Given the description of an element on the screen output the (x, y) to click on. 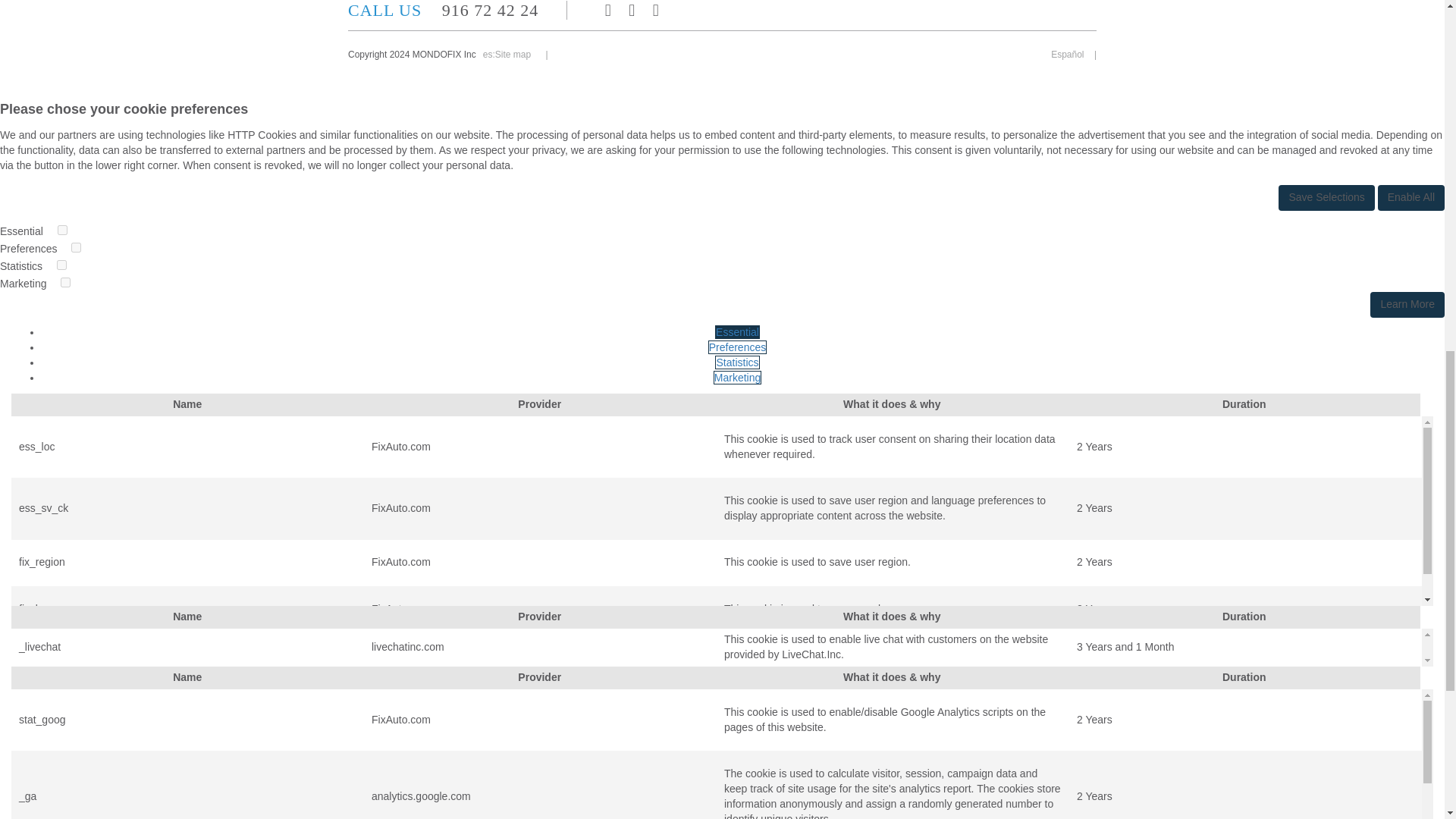
on (76, 247)
Preferences (737, 346)
on (65, 282)
Essential (737, 332)
Save Selections (1326, 197)
Statistics (736, 362)
es:Site map (510, 54)
on (61, 265)
on (62, 230)
